Given the description of an element on the screen output the (x, y) to click on. 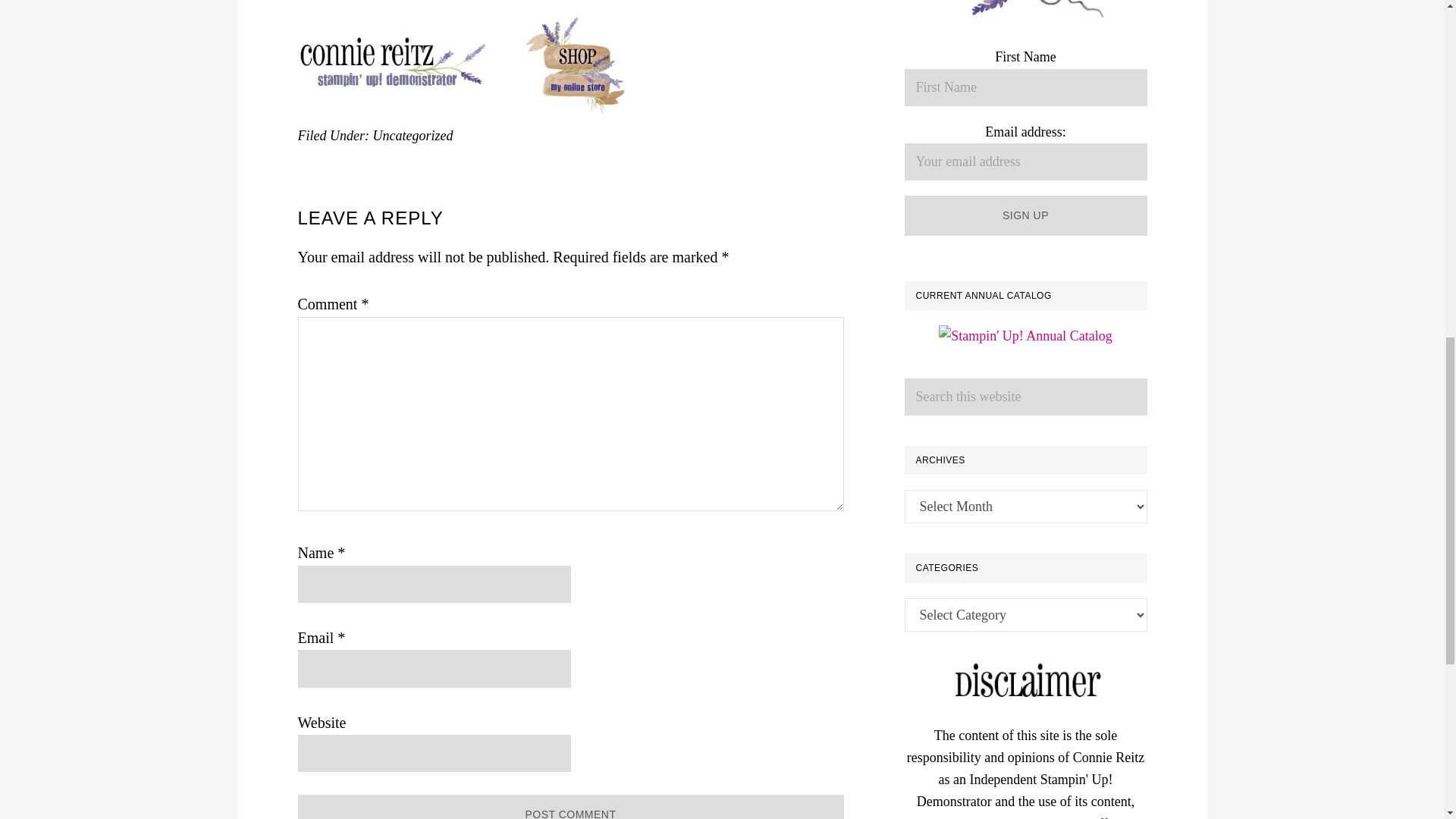
Sign up (1025, 215)
Uncategorized (412, 135)
Post Comment (570, 806)
Post Comment (570, 806)
